Given the description of an element on the screen output the (x, y) to click on. 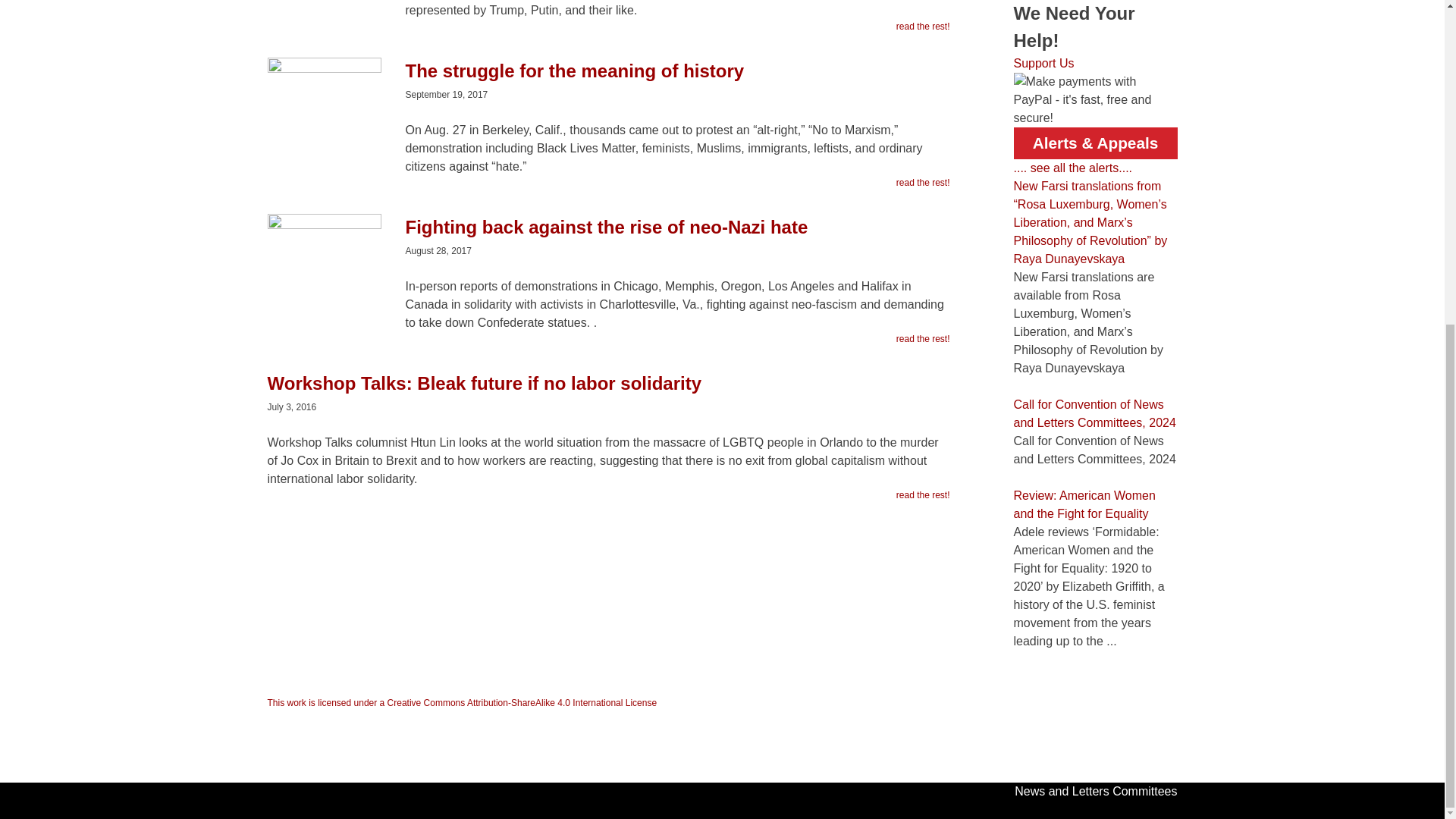
read the rest! (923, 338)
Support Us (1043, 62)
Workshop Talks: Bleak future if no labor solidarity (607, 391)
read the rest! (923, 182)
Call for Convention of News and Letters Committees, 2024 (1093, 413)
The struggle for the meaning of history (607, 78)
read the rest! (923, 26)
read the rest! (923, 495)
.... see all the alerts.... (1072, 167)
Review: American Women and the Fight for Equality (1083, 504)
Fighting back against the rise of neo-Nazi hate (607, 234)
